Given the description of an element on the screen output the (x, y) to click on. 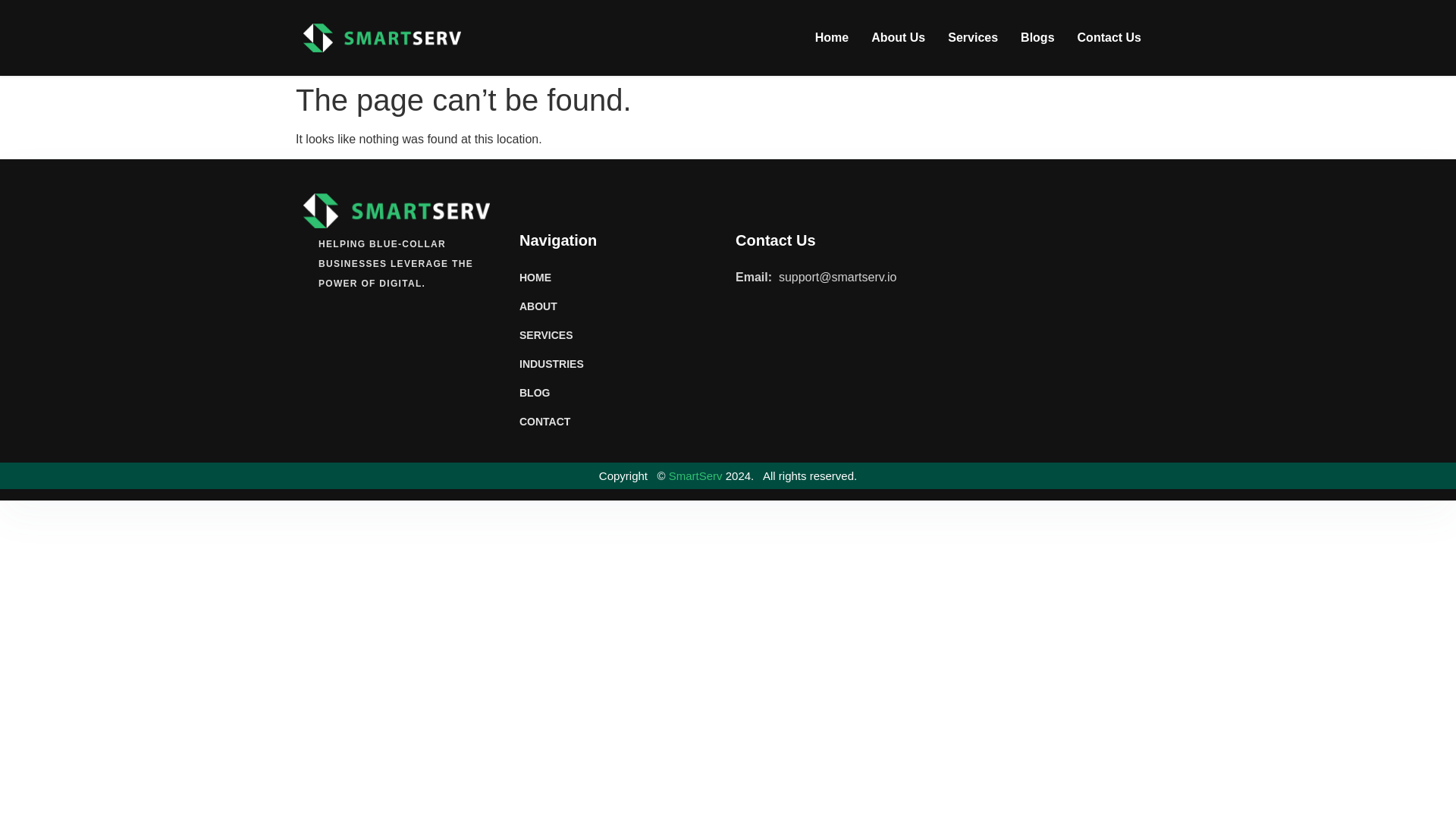
SERVICES (573, 334)
CONTACT (573, 421)
SmartServ (696, 475)
About Us (898, 37)
BLOG (573, 392)
Home (831, 37)
Contact Us (1109, 37)
Services (972, 37)
HOME (573, 277)
INDUSTRIES (573, 363)
